Given the description of an element on the screen output the (x, y) to click on. 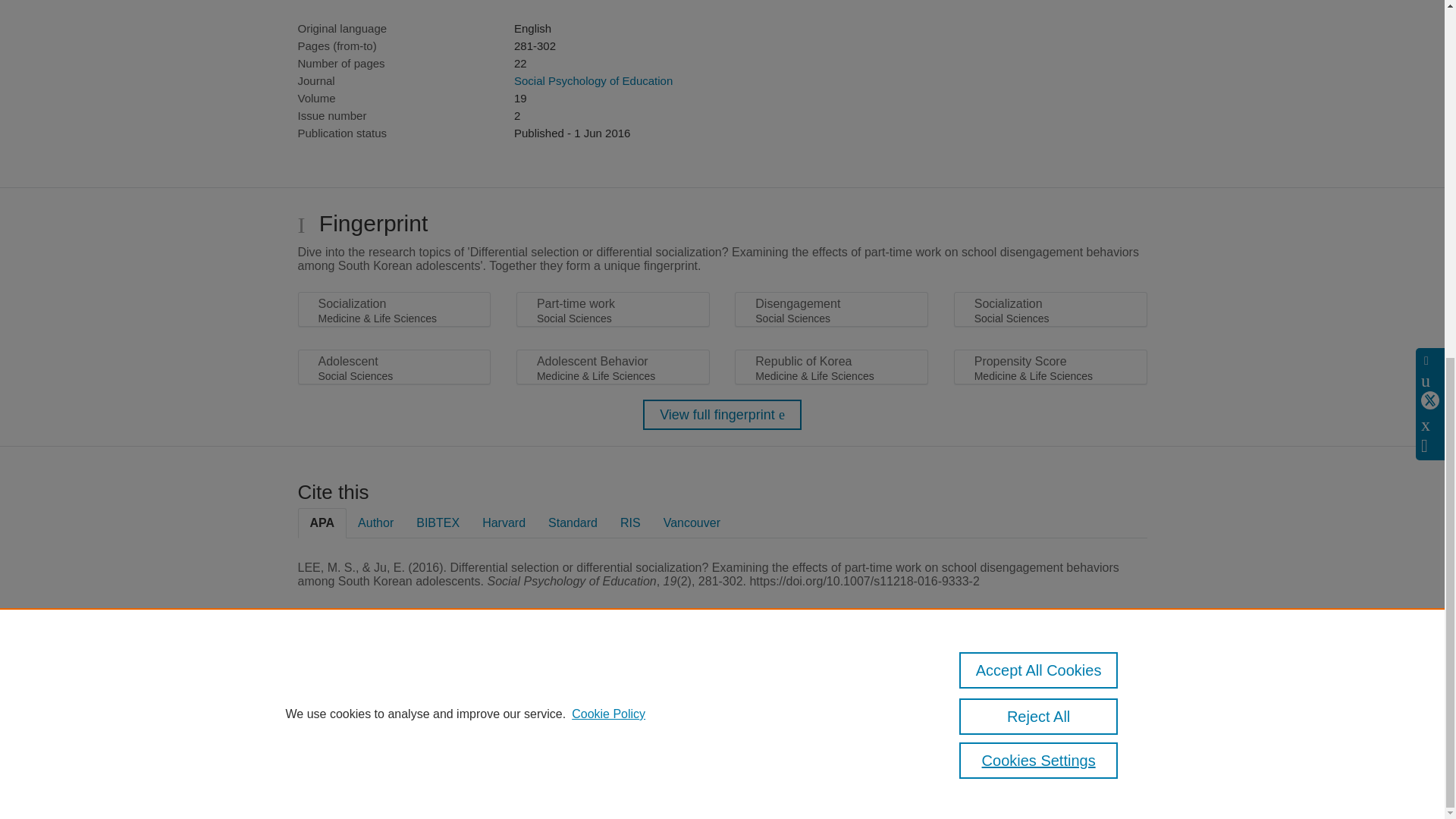
Pure (362, 686)
View full fingerprint (722, 414)
Social Psychology of Education (592, 80)
Scopus (394, 686)
